Given the description of an element on the screen output the (x, y) to click on. 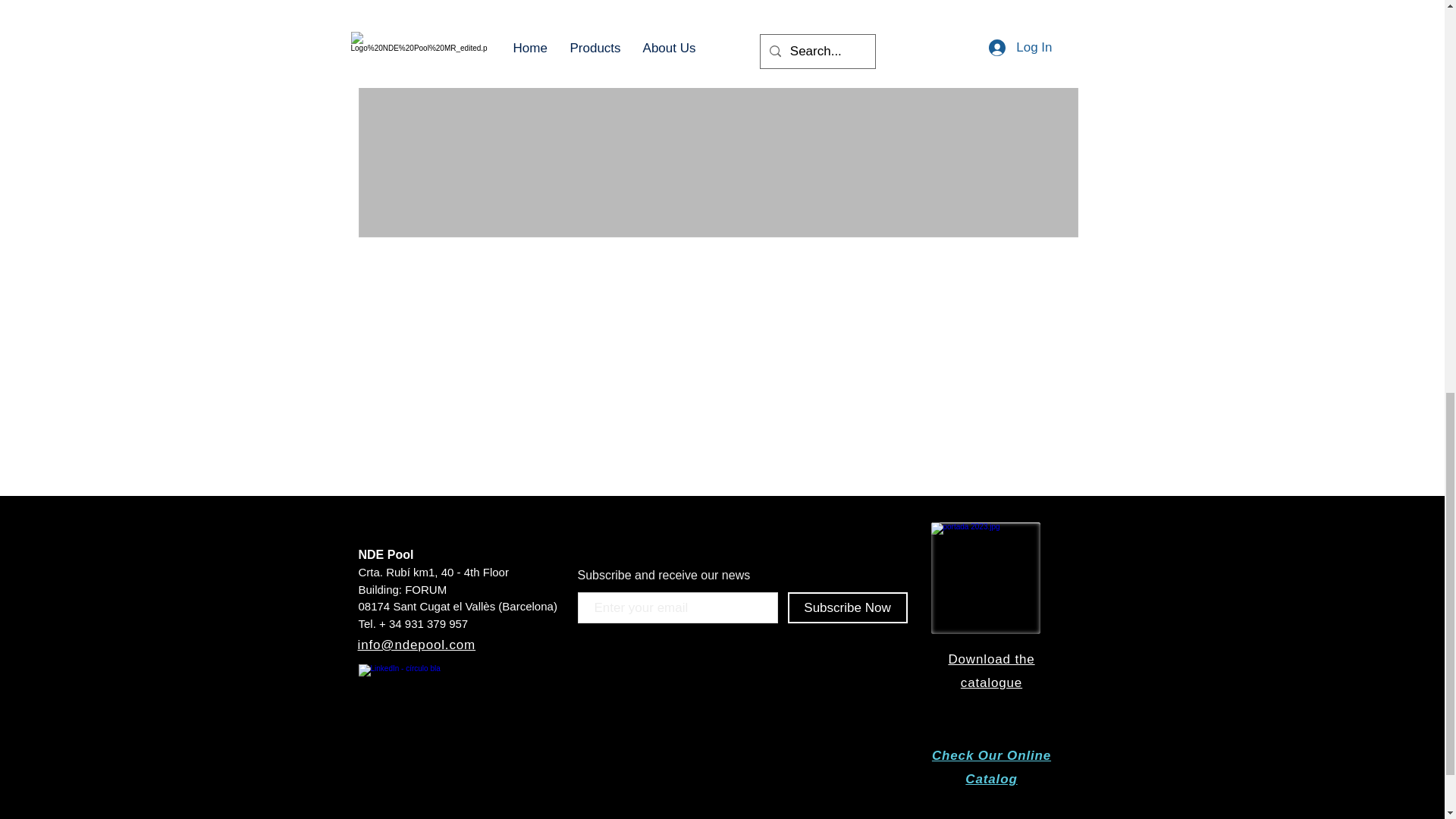
Download the catalogue (990, 670)
Subscribe Now (847, 607)
Check Our Online Catalog (991, 767)
